Given the description of an element on the screen output the (x, y) to click on. 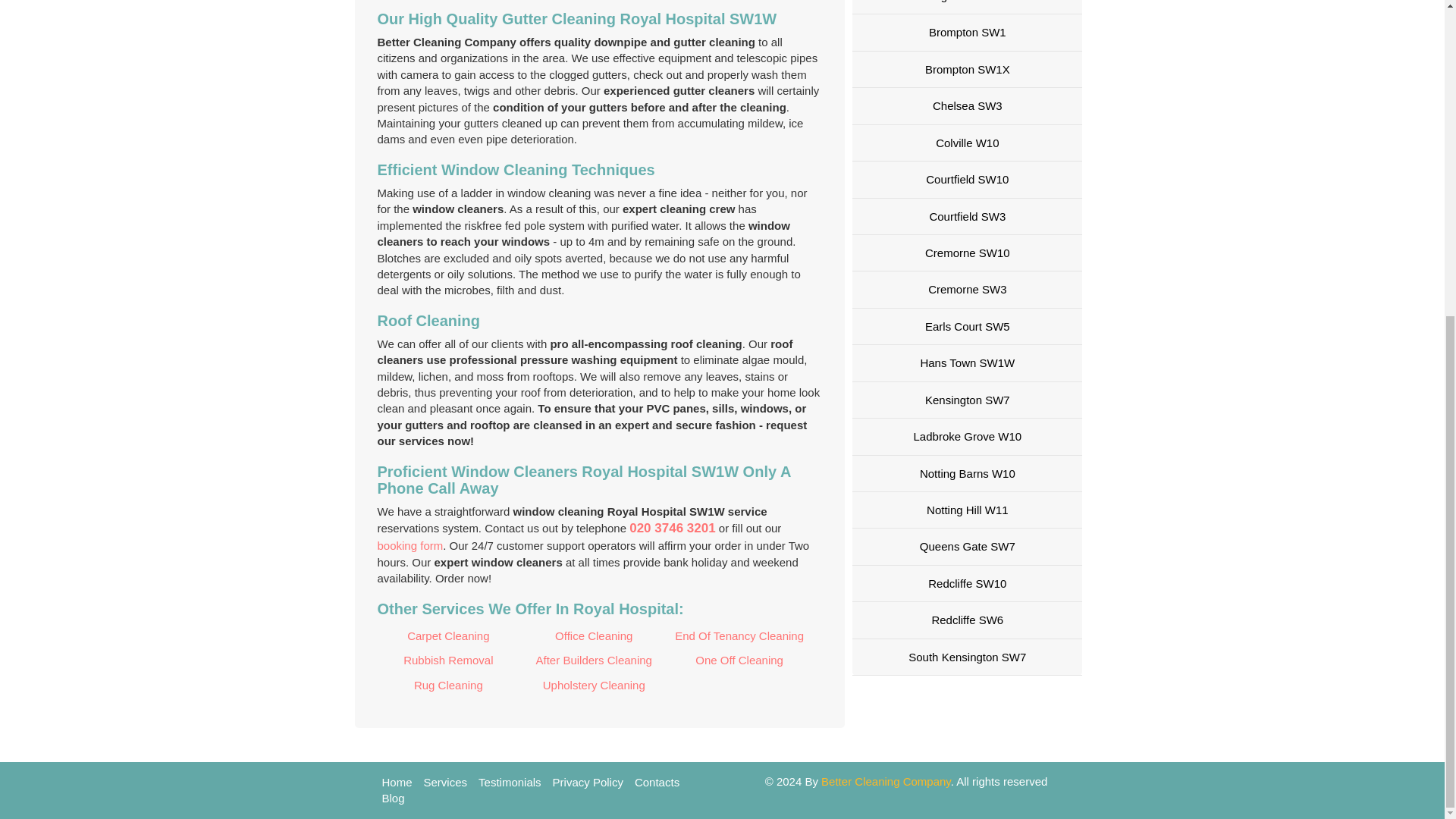
Rug Cleaning (448, 685)
One Off Cleaning (739, 660)
Office Cleaning (593, 636)
After Builders Cleaning (593, 660)
End Of Tenancy Cleaning (739, 636)
020 3746 3201 (671, 527)
Carpet Cleaning (448, 636)
Rubbish Removal (448, 660)
booking form (410, 545)
Upholstery Cleaning (593, 685)
